Given the description of an element on the screen output the (x, y) to click on. 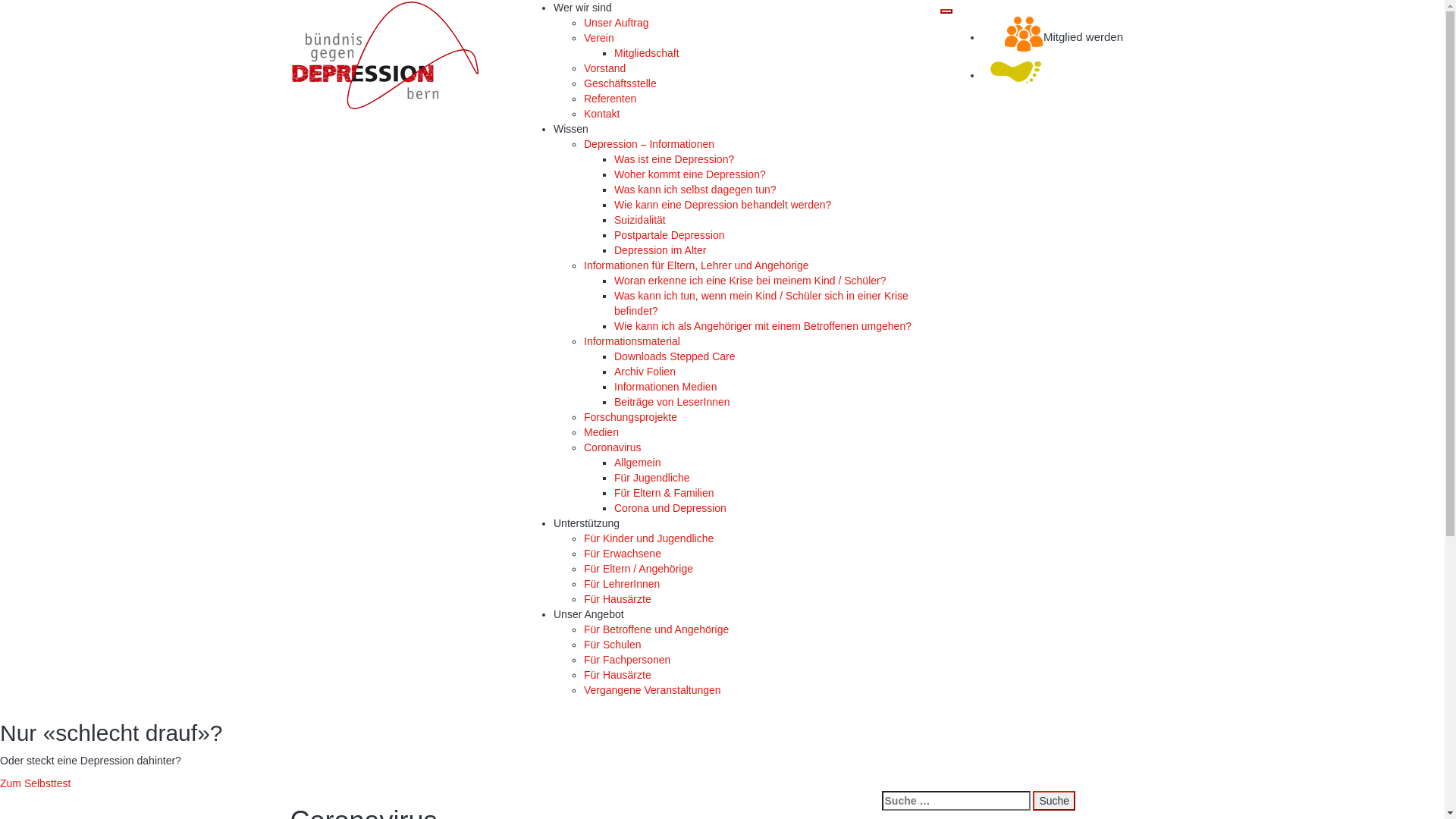
Informationsmaterial Element type: text (631, 341)
Wissen Element type: text (570, 128)
Medien Element type: text (600, 432)
Vorstand Element type: text (604, 68)
Depression im Alter Element type: text (660, 250)
Archiv Folien Element type: text (644, 371)
Mitgliedschaft Element type: text (646, 53)
Suche Element type: text (1053, 800)
Was ist eine Depression? Element type: text (674, 159)
Postpartale Depression Element type: text (669, 235)
Was kann ich selbst dagegen tun? Element type: text (695, 189)
Verein Element type: text (598, 37)
Wer wir sind Element type: text (582, 7)
Corona und Depression Element type: text (670, 508)
Allgemein Element type: text (637, 462)
Unser Auftrag Element type: text (616, 22)
Woher kommt eine Depression? Element type: text (689, 174)
Informationen Medien Element type: text (665, 386)
Downloads Stepped Care Element type: text (674, 356)
Zum Selbsttest Element type: text (35, 783)
Wie kann eine Depression behandelt werden? Element type: text (722, 204)
Coronavirus Element type: text (611, 447)
Vergangene Veranstaltungen Element type: text (652, 690)
Unser Angebot Element type: text (588, 614)
Forschungsprojekte Element type: text (630, 417)
Kontakt Element type: text (601, 113)
Referenten Element type: text (609, 98)
